Given the description of an element on the screen output the (x, y) to click on. 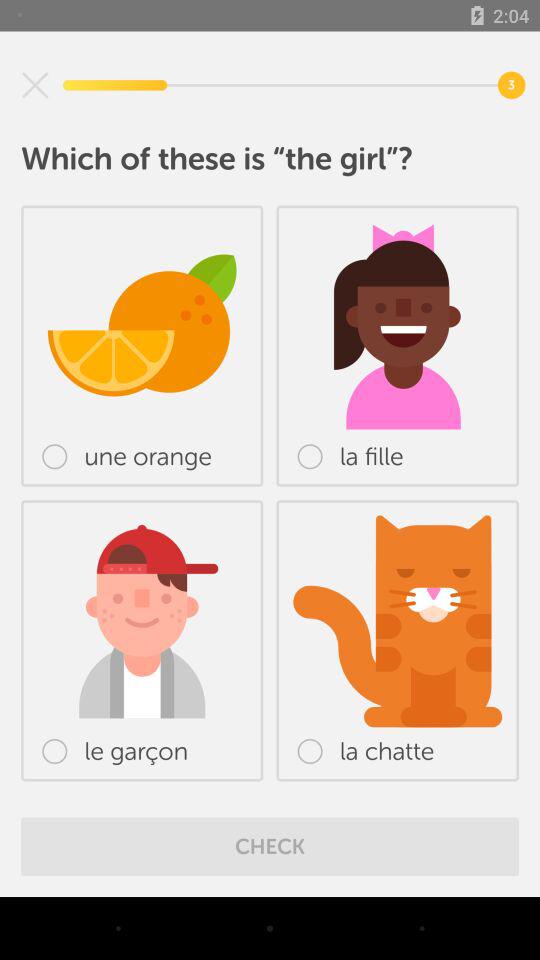
close page (35, 85)
